Given the description of an element on the screen output the (x, y) to click on. 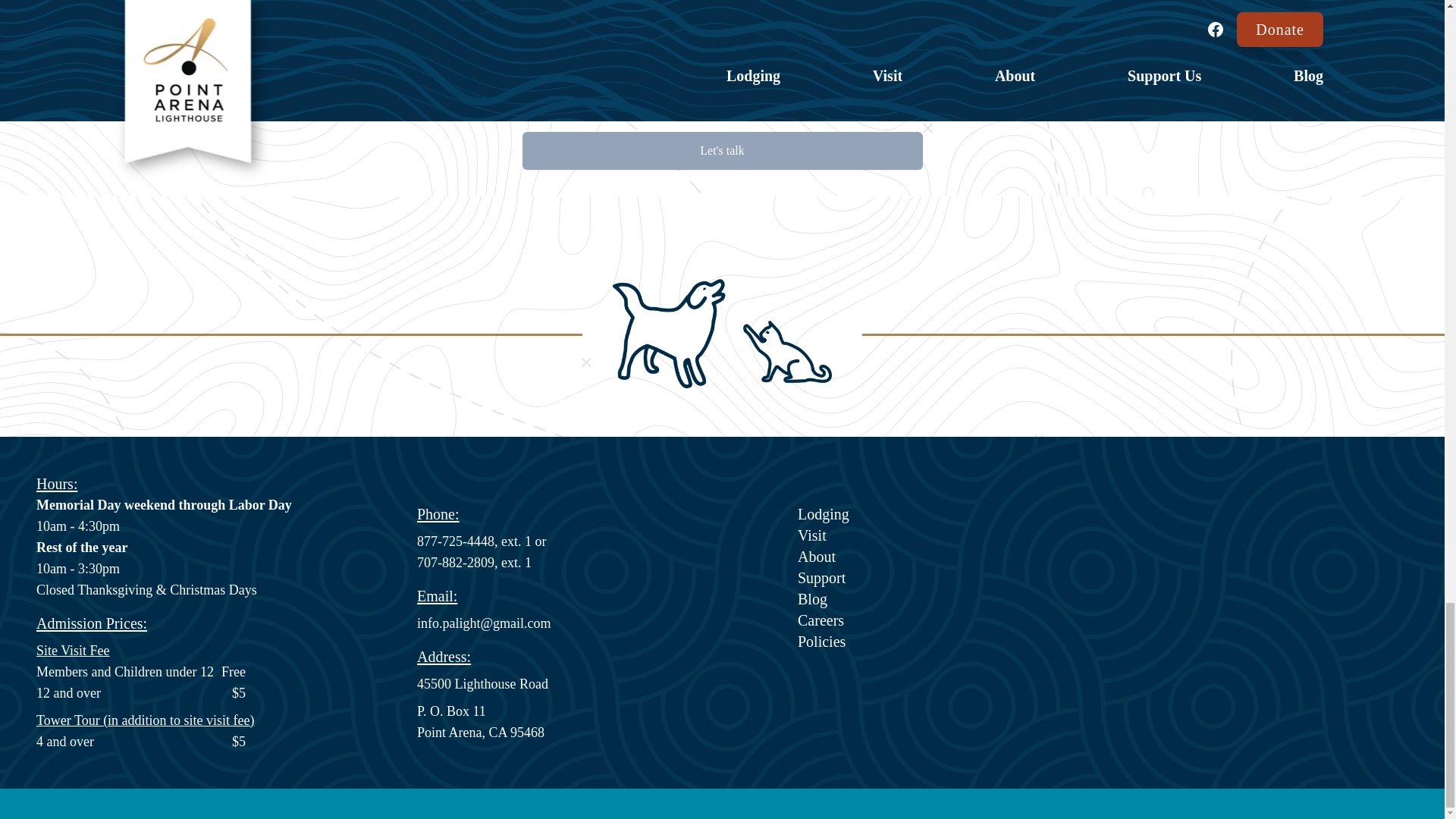
About (954, 556)
Visit (954, 535)
Policies (954, 640)
Support (954, 577)
Lodging (954, 513)
Privacy Policy (767, 100)
Careers (954, 619)
Agree to policies (537, 100)
Let's talk (721, 150)
Blog (954, 598)
Cookie Policy (861, 100)
